Given the description of an element on the screen output the (x, y) to click on. 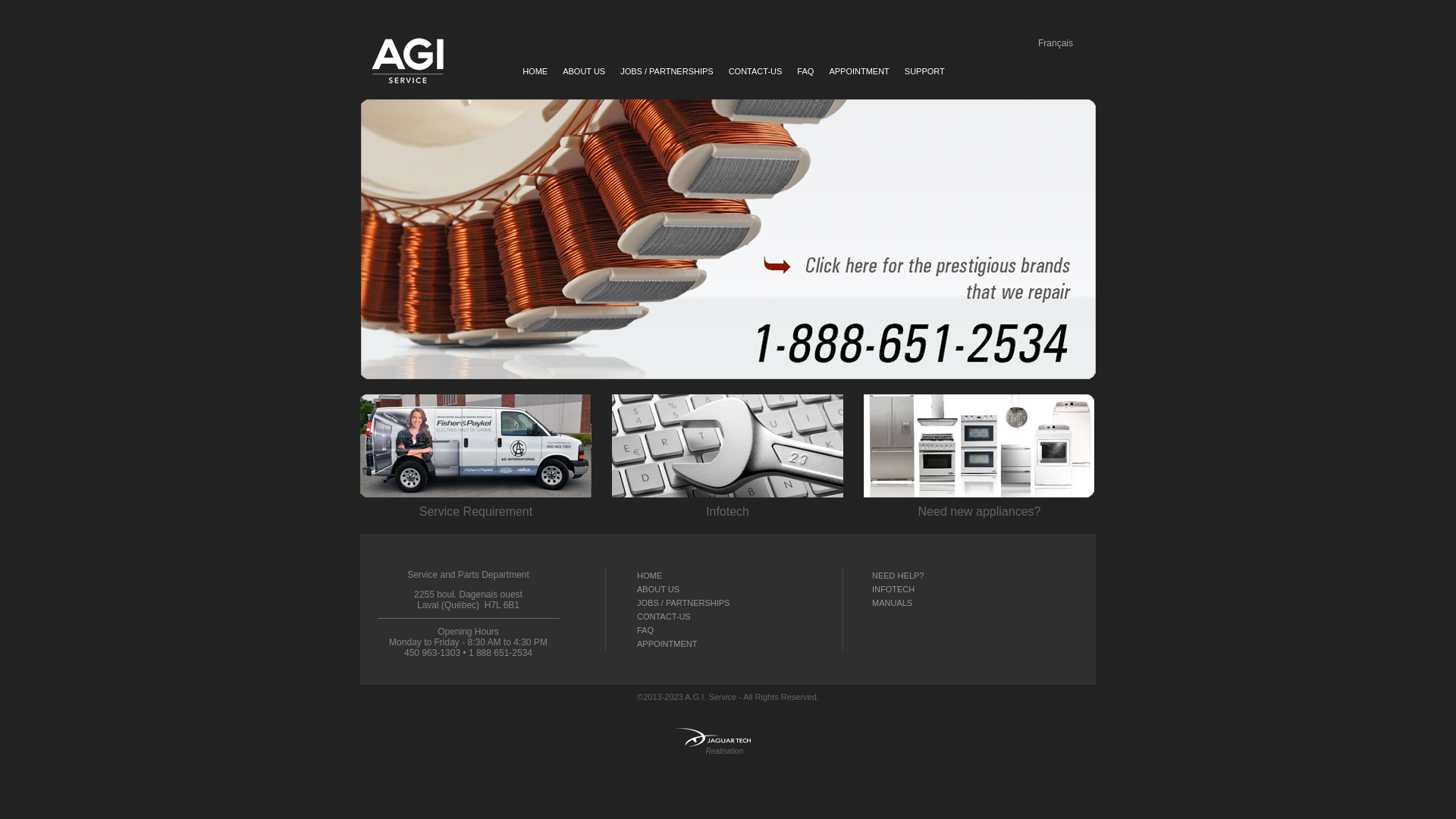
SUPPORT Element type: text (924, 71)
HOME Element type: text (649, 575)
FAQ Element type: text (805, 71)
FAQ Element type: text (645, 629)
JOBS / PARTNERSHIPS Element type: text (683, 602)
HOME Element type: text (534, 71)
CONTACT-US Element type: text (663, 616)
A.G.I. Service Element type: hover (407, 60)
A.G.I. Service Element type: hover (727, 238)
CONTACT-US Element type: text (755, 71)
NEED HELP? Element type: text (897, 575)
INFOTECH Element type: text (893, 588)
A.G.I. Service - Infotech Element type: hover (727, 445)
A.G.I. Service - Need new appliances? Element type: hover (979, 445)
Jaguar Tech Web Realisation Element type: hover (711, 737)
ABOUT US Element type: text (583, 71)
APPOINTMENT Element type: text (858, 71)
ABOUT US Element type: text (658, 588)
JOBS / PARTNERSHIPS Element type: text (666, 71)
APPOINTMENT Element type: text (666, 643)
MANUALS Element type: text (892, 602)
A.G.I. Service Element type: text (710, 696)
A.G.I. Service - Service Requirement Element type: hover (475, 445)
